Given the description of an element on the screen output the (x, y) to click on. 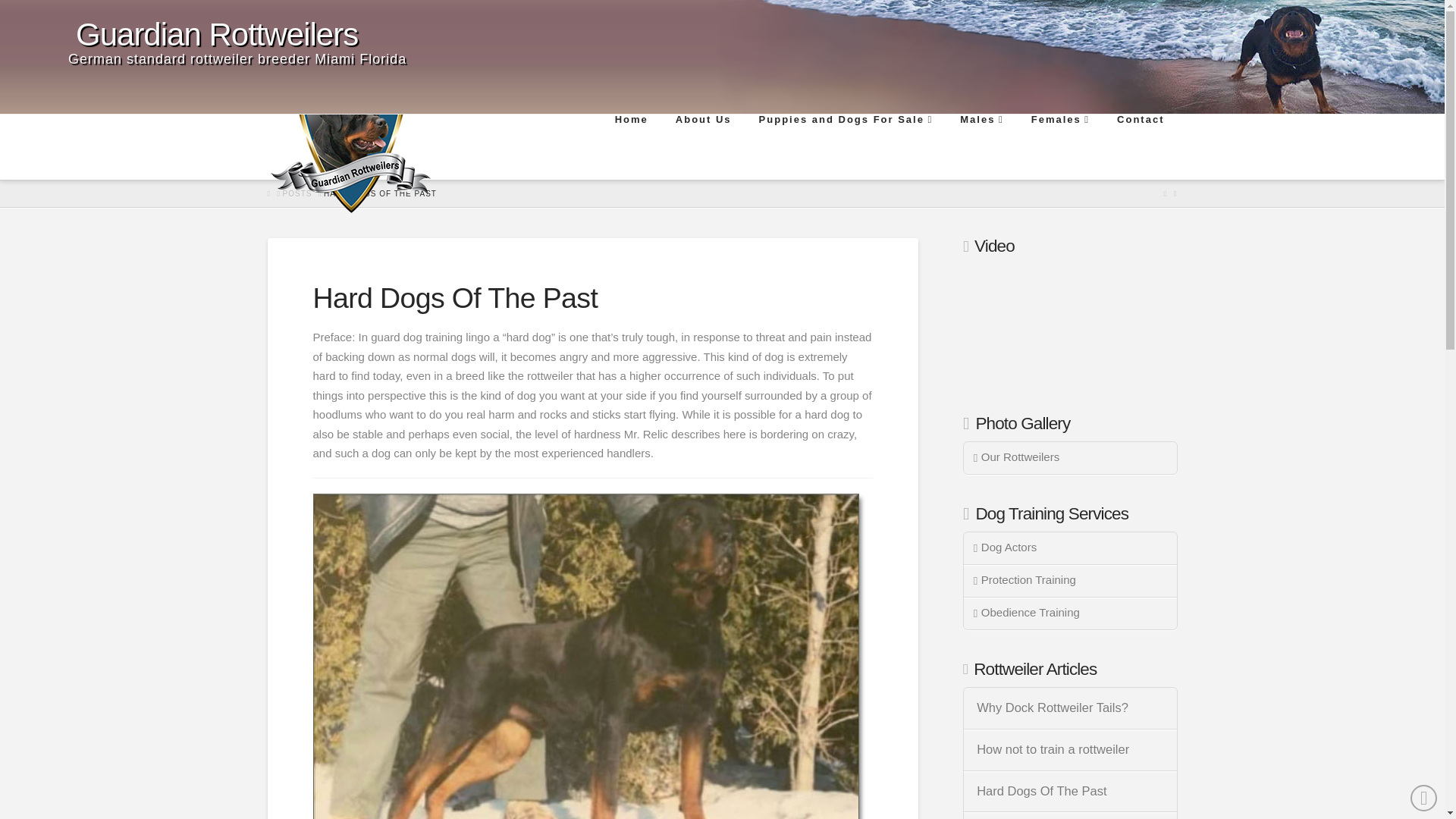
Back to Top (1423, 797)
Why Dock Rottweiler Tails? (1069, 708)
HARD DOGS OF THE PAST (379, 193)
Puppies and Dogs For Sale (845, 146)
Obedience Training (1069, 613)
POSTS (297, 193)
About Us (702, 146)
Dog Actors (1069, 548)
Females (1059, 146)
Home (630, 146)
